Given the description of an element on the screen output the (x, y) to click on. 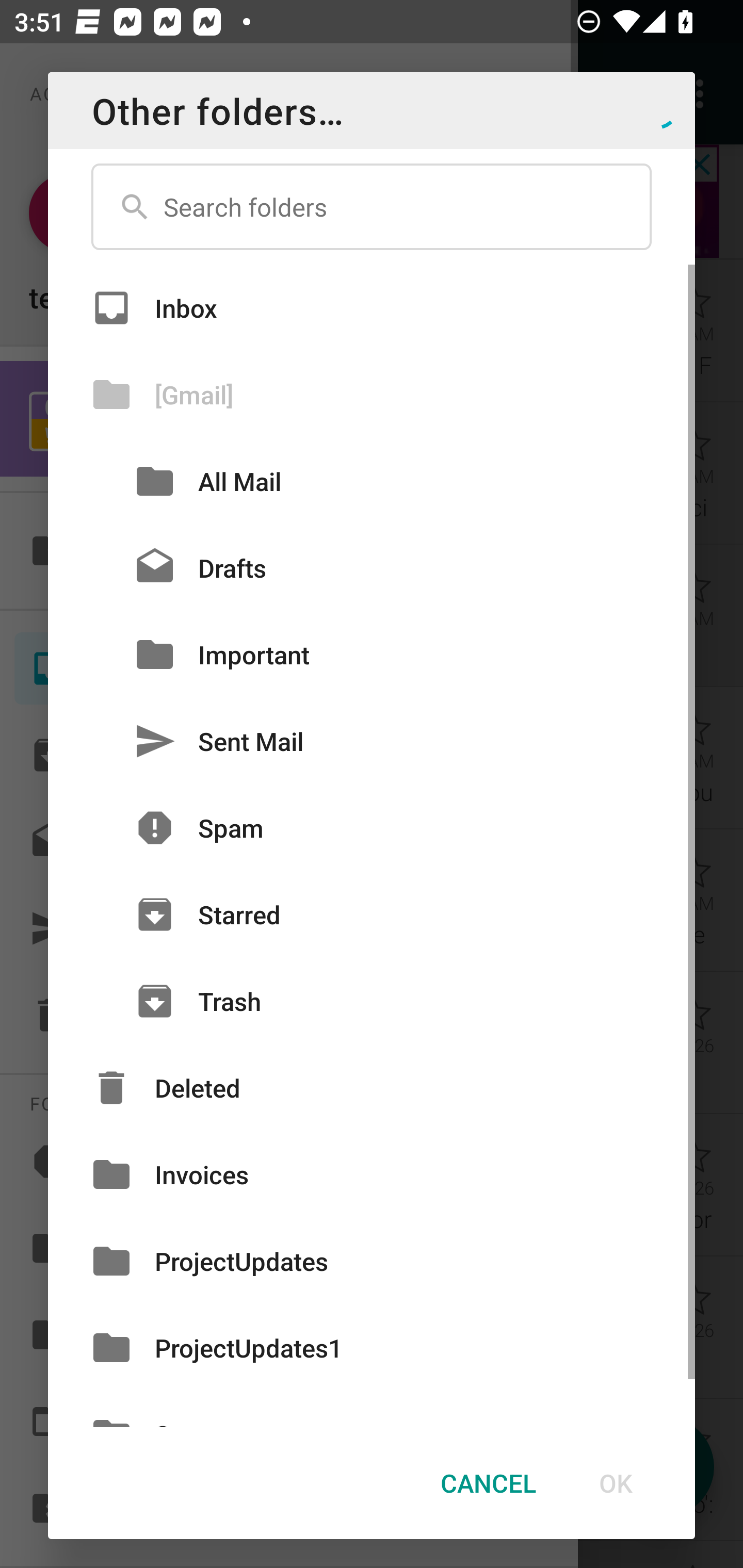
Inbox (371, 307)
All Mail (371, 481)
Drafts (371, 568)
Important (371, 654)
Sent Mail (371, 740)
Spam (371, 827)
Starred (371, 914)
Trash (371, 1001)
Deleted (371, 1087)
Invoices (371, 1174)
ProjectUpdates (371, 1261)
ProjectUpdates1 (371, 1347)
CANCEL (488, 1482)
OK (615, 1482)
